Given the description of an element on the screen output the (x, y) to click on. 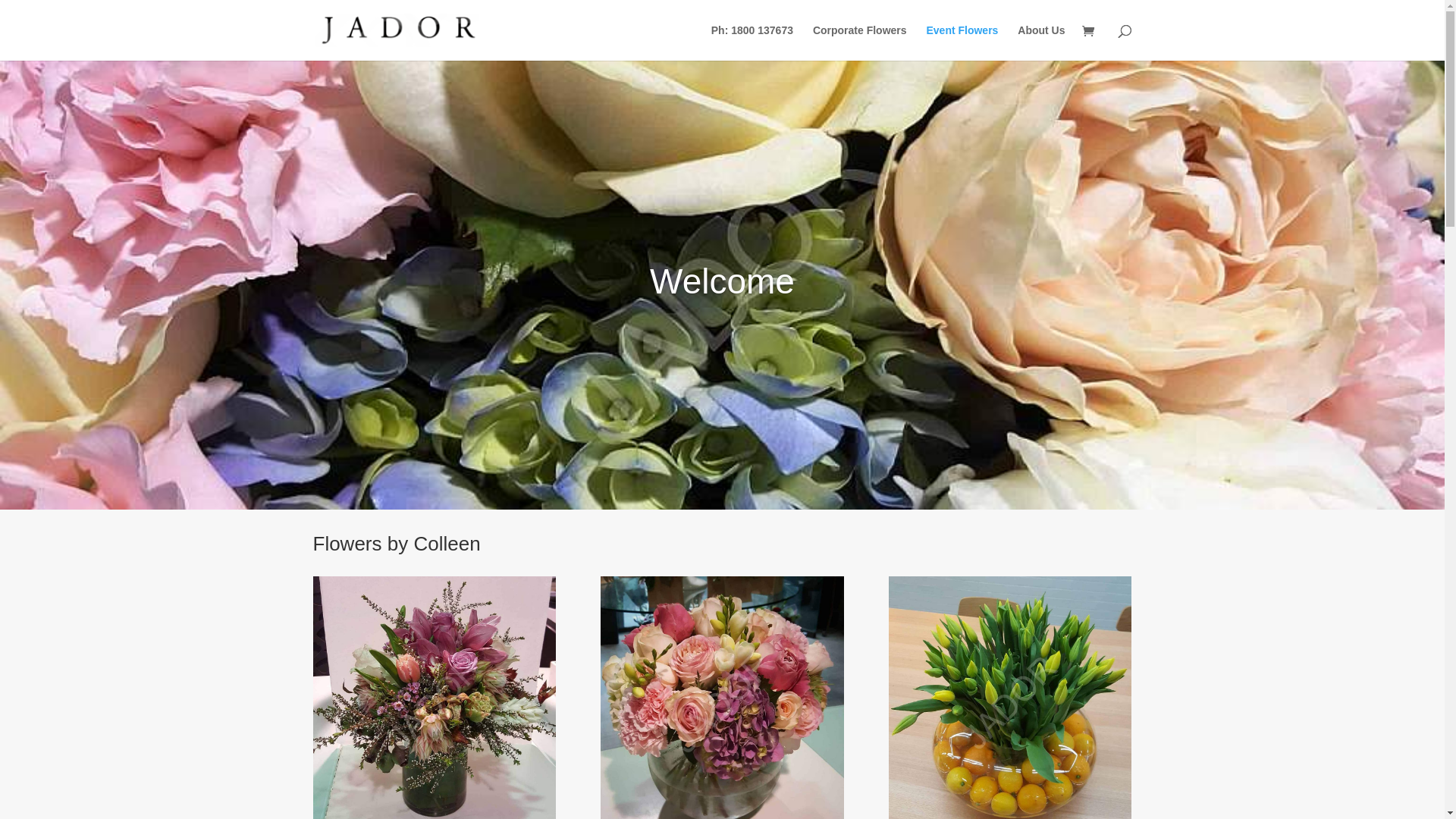
About Us Element type: text (1040, 42)
Event Flowers Element type: text (961, 42)
Corporate Flowers Element type: text (859, 42)
Ph: 1800 137673 Element type: text (752, 42)
